Given the description of an element on the screen output the (x, y) to click on. 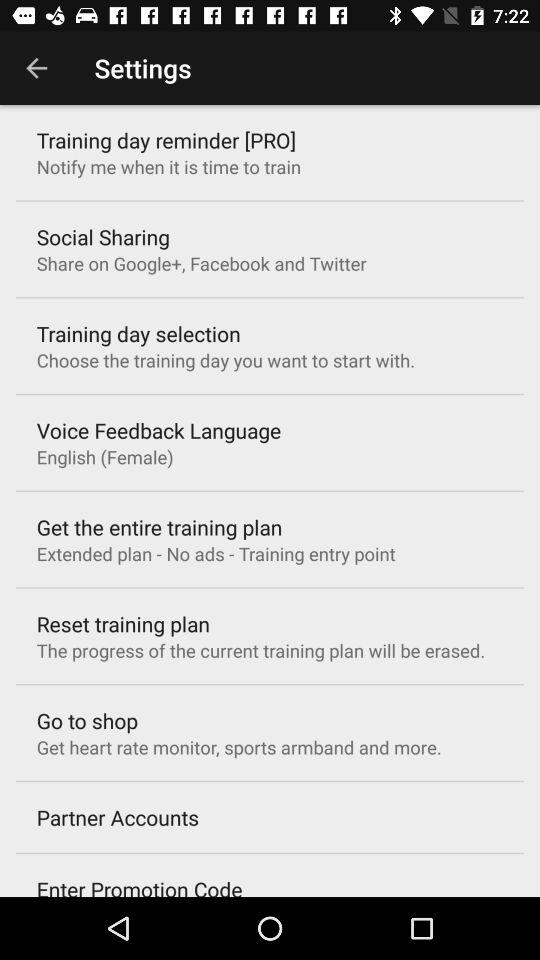
select icon to the left of settings item (36, 68)
